Given the description of an element on the screen output the (x, y) to click on. 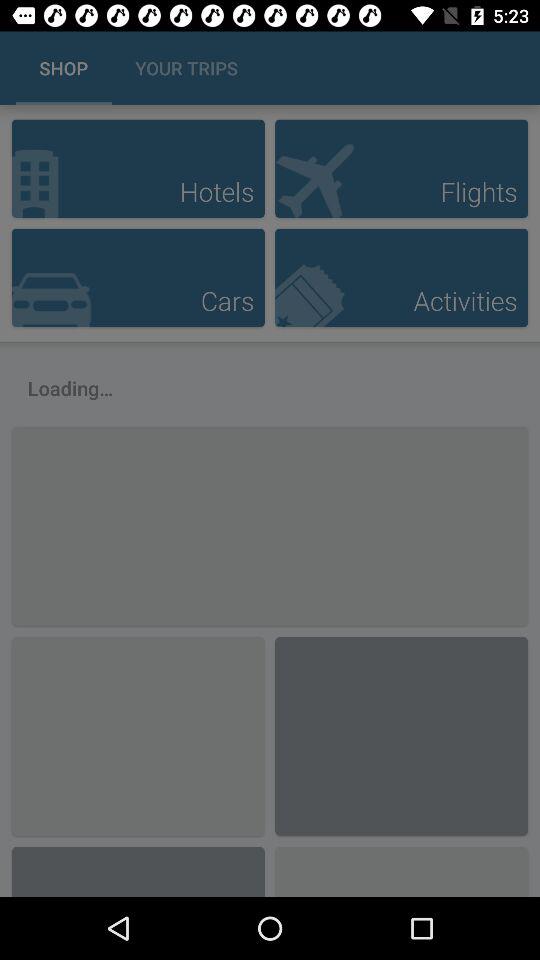
press the icon to the right of your trips icon (503, 68)
